Given the description of an element on the screen output the (x, y) to click on. 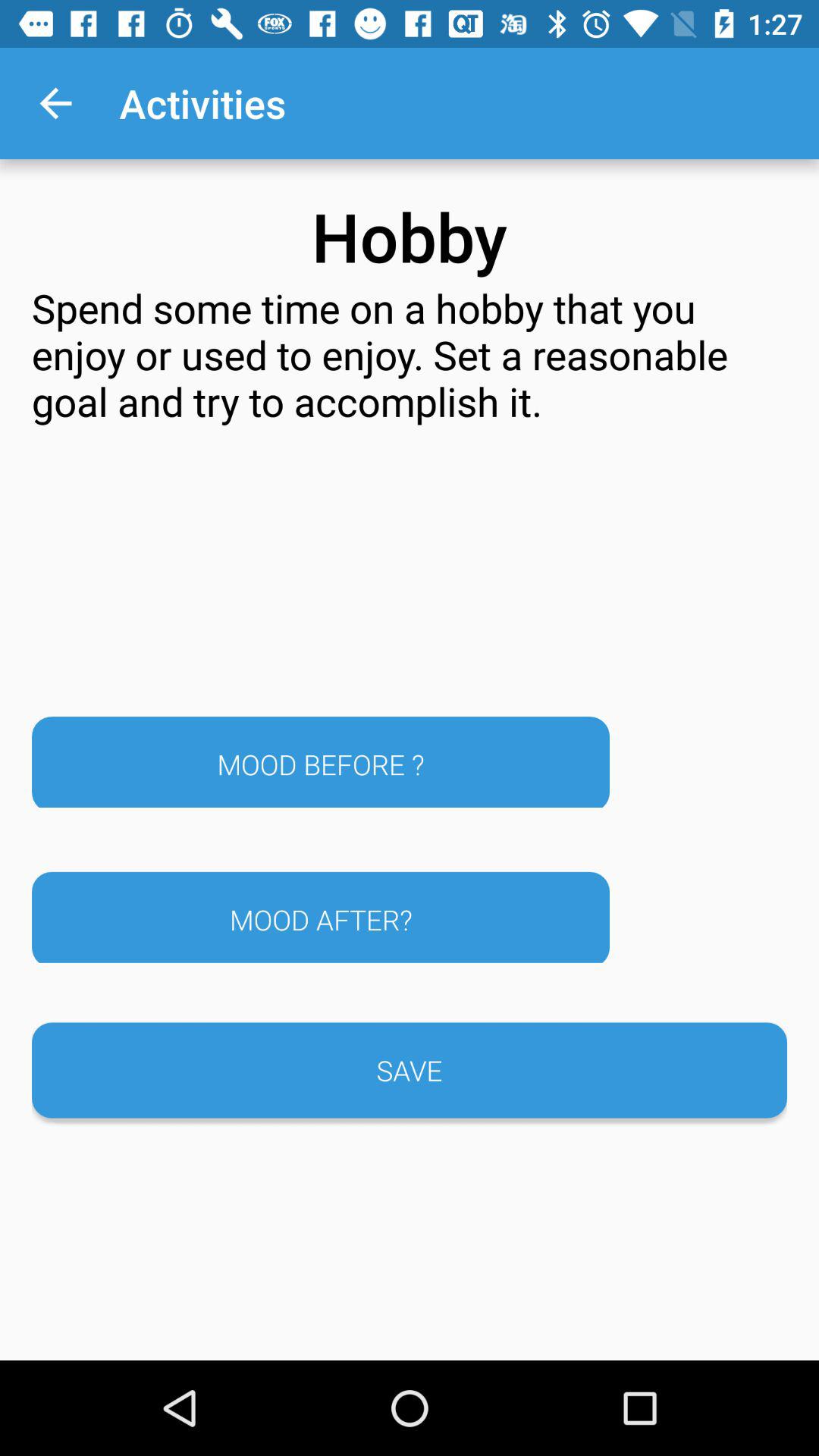
select the app above the spend some time icon (55, 103)
